Given the description of an element on the screen output the (x, y) to click on. 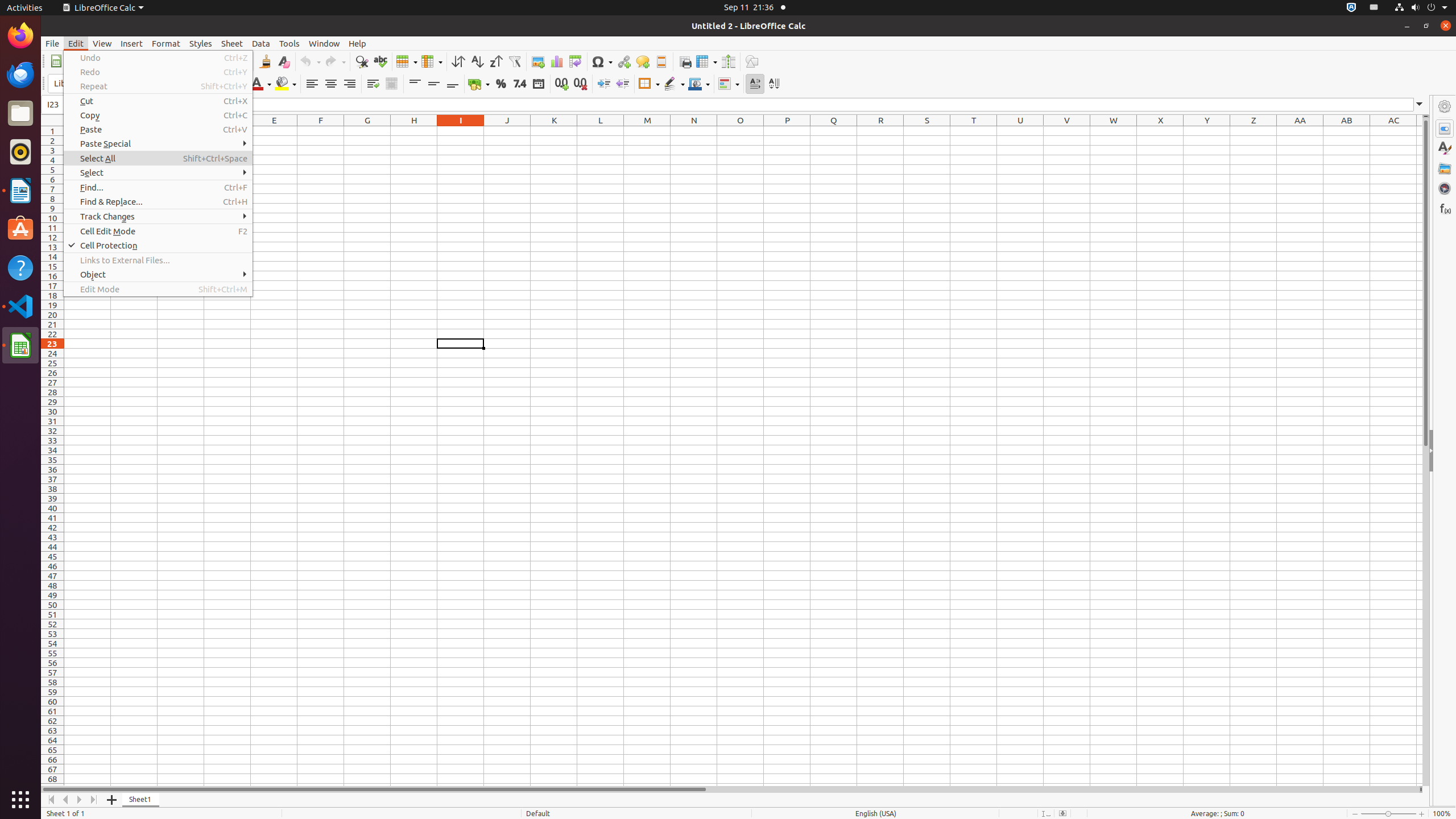
Y1 Element type: table-cell (1206, 130)
Sort Descending Element type: push-button (495, 61)
Sort Element type: push-button (457, 61)
Cut Element type: menu-item (157, 100)
F1 Element type: table-cell (320, 130)
